Given the description of an element on the screen output the (x, y) to click on. 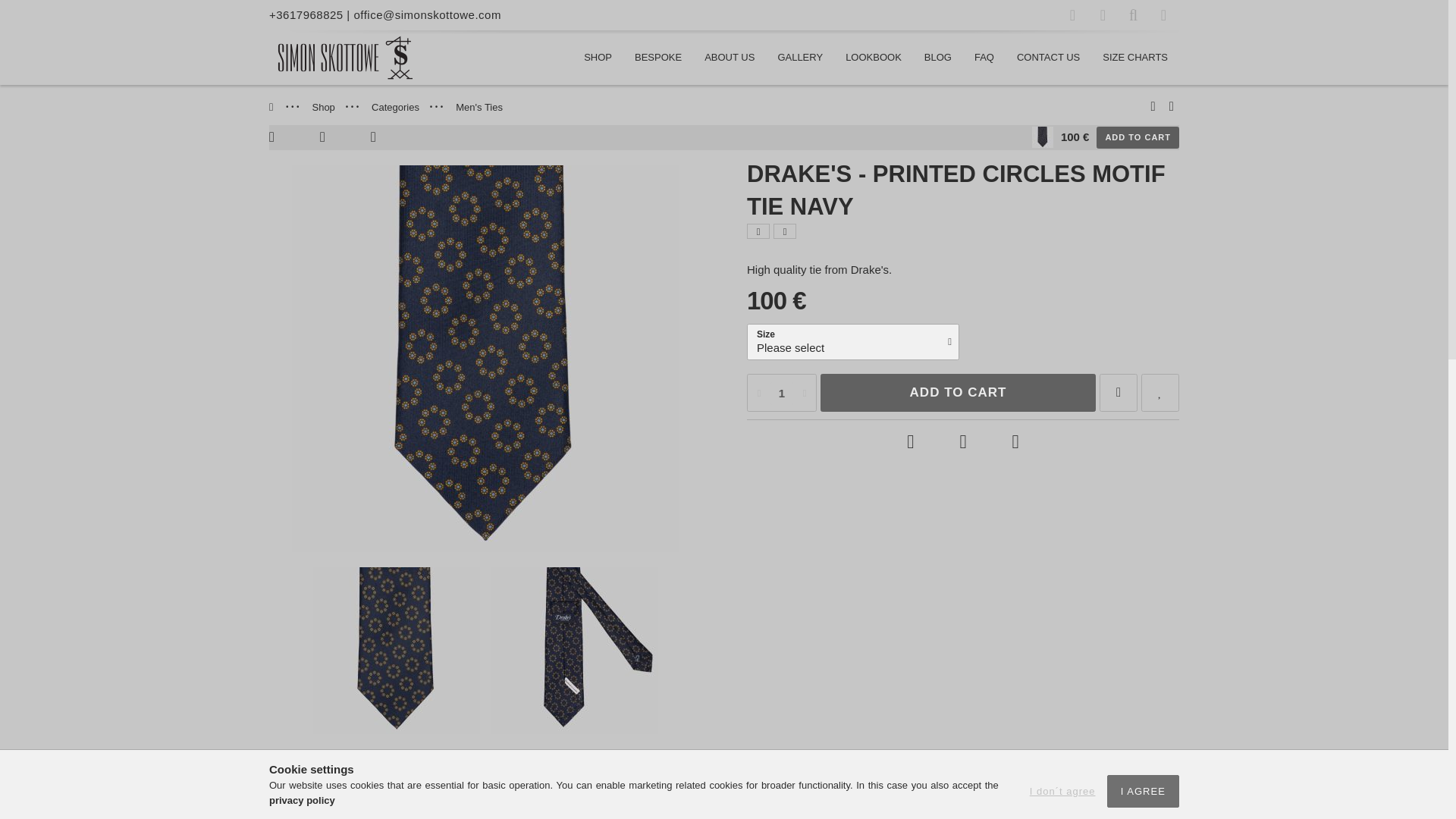
1 (781, 393)
Drake's - Printed circles motif tie navy (575, 650)
Drake's - Printed circles motif tie navy (396, 650)
